Given the description of an element on the screen output the (x, y) to click on. 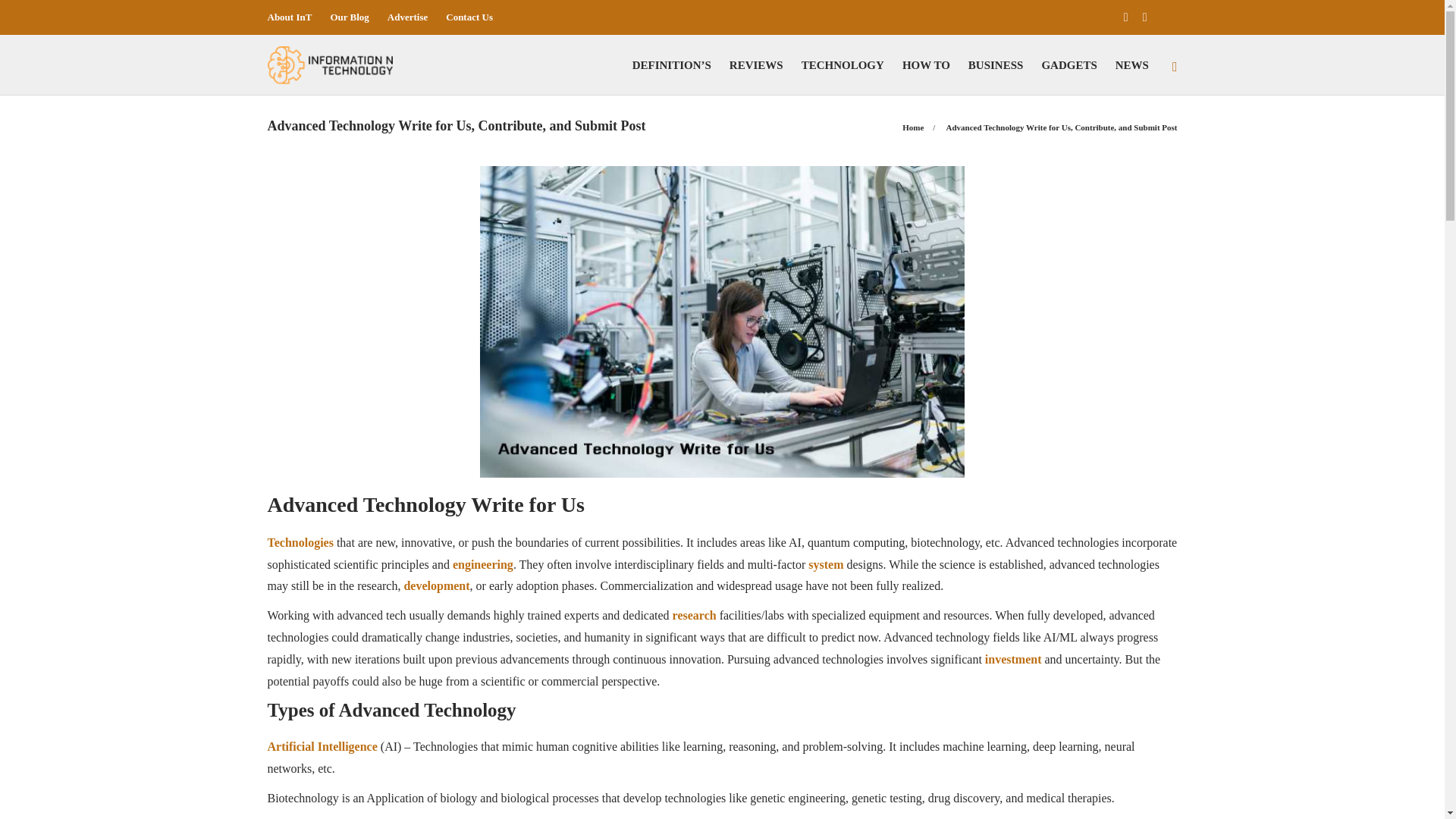
Our Blog (349, 17)
engineering (481, 563)
investment (1011, 658)
Advertise (407, 17)
Artificial Intelligence (321, 746)
GADGETS (1068, 65)
Home (912, 126)
research (694, 615)
Contact Us (469, 17)
